Given the description of an element on the screen output the (x, y) to click on. 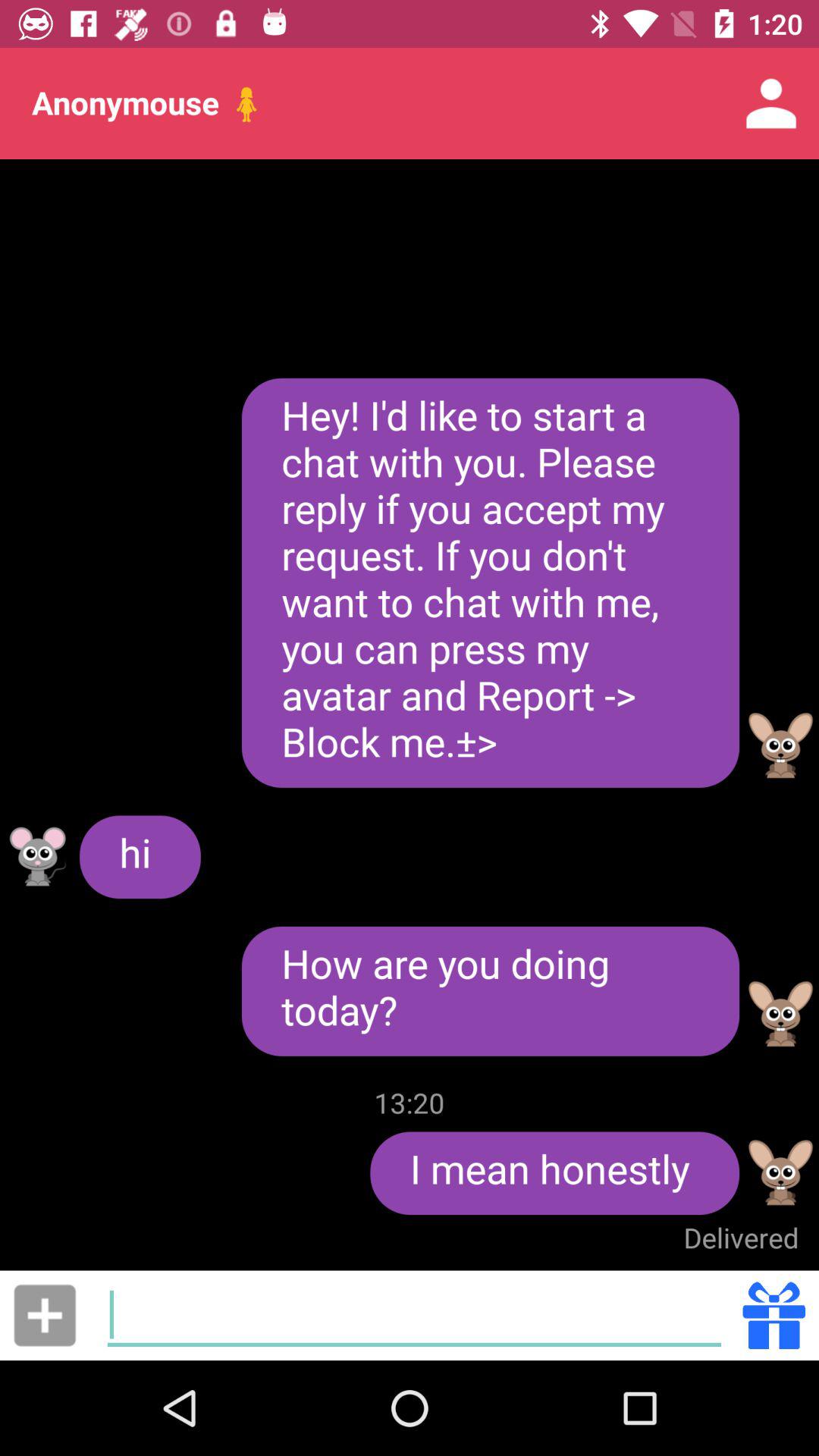
add media (44, 1315)
